Given the description of an element on the screen output the (x, y) to click on. 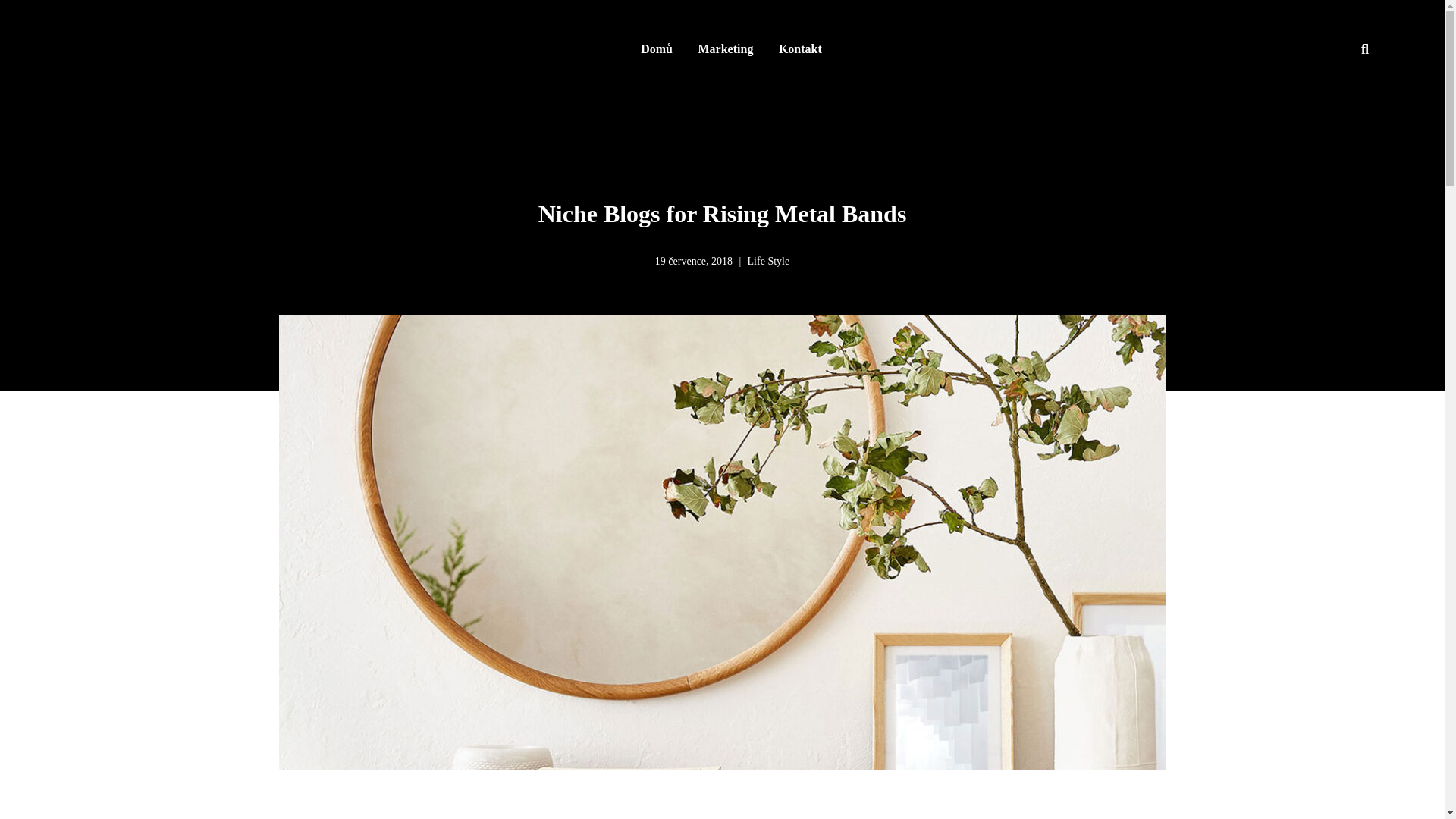
Life Style (769, 260)
Marketing (726, 49)
